Given the description of an element on the screen output the (x, y) to click on. 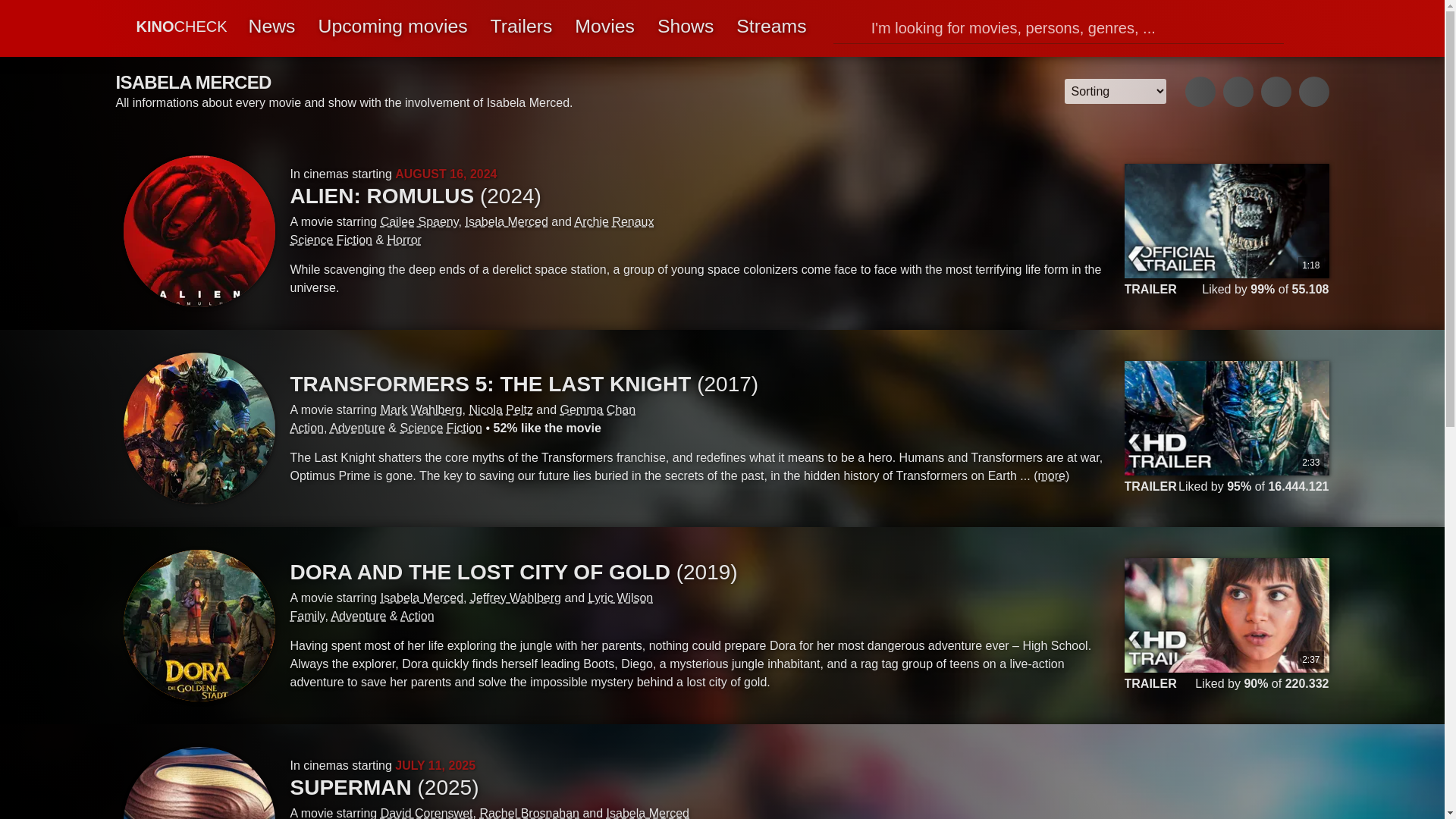
Facebook Page (1237, 91)
Gemma Chan (598, 409)
Isabela Merced (421, 597)
Transformers 5: The Last Knight Trailer (1225, 428)
Mark Wahlberg (421, 409)
Current news around cinema and tv (270, 28)
Isabela Merced (1304, 28)
Shows (685, 28)
Jeffrey Wahlberg (515, 597)
Science Fiction (439, 427)
Website (1199, 91)
Science Fiction (330, 239)
Twitter Profile (1312, 91)
Trailers (521, 28)
Instagram Profile (1275, 91)
